Given the description of an element on the screen output the (x, y) to click on. 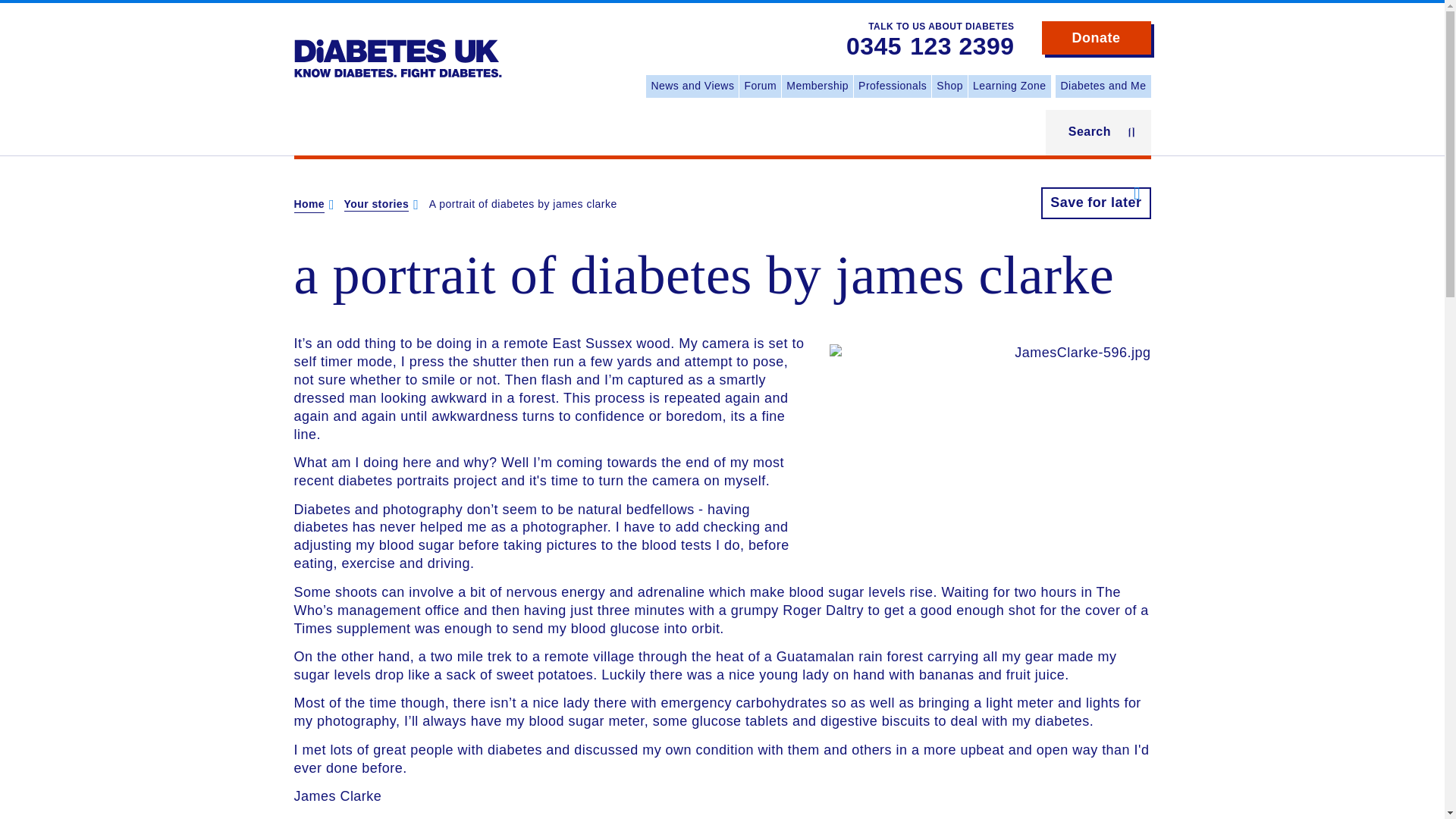
Home (398, 47)
Learning Zone (1009, 86)
Diabetes and Me (1102, 86)
Shop (949, 86)
Forum (759, 86)
Search (1098, 132)
Search Diabetes UK (15, 21)
Professionals (892, 86)
Home (309, 204)
Your stories (376, 204)
Donate (1096, 37)
0345123 2399 (929, 46)
Membership (817, 86)
News and Views (692, 86)
